Given the description of an element on the screen output the (x, y) to click on. 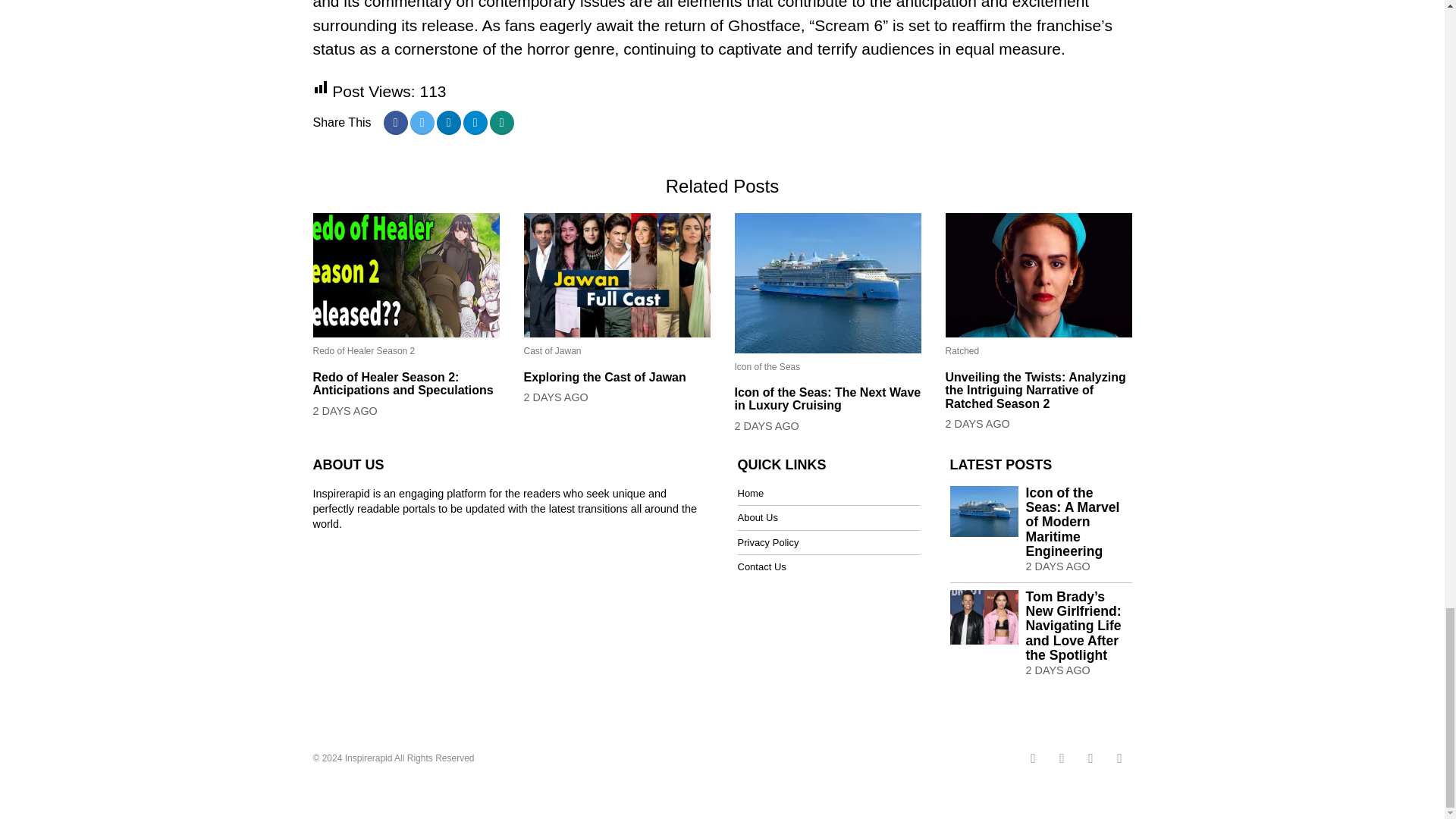
05 Aug, 2024 12:55:58 (555, 396)
05 Aug, 2024 12:36:55 (976, 423)
Exploring the Cast of Jawan (616, 377)
Redo of Healer Season 2: Anticipations and Speculations (406, 384)
05 Aug, 2024 18:25:50 (1057, 566)
05 Aug, 2024 18:06:50 (345, 410)
Icon of the Seas: The Next Wave in Luxury Cruising (826, 398)
05 Aug, 2024 18:23:50 (1057, 670)
05 Aug, 2024 12:41:56 (765, 426)
